Given the description of an element on the screen output the (x, y) to click on. 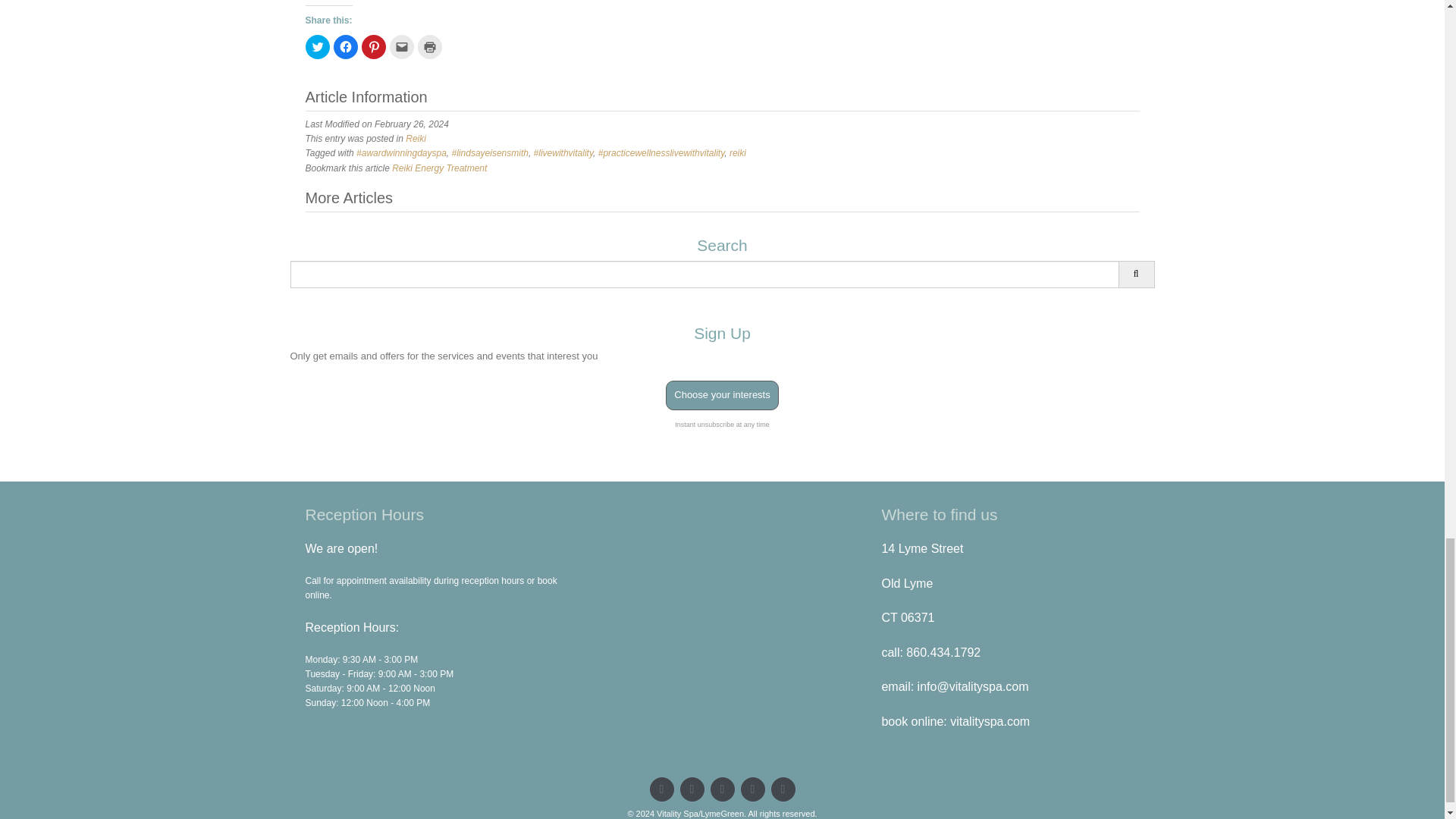
Click to email a link to a friend (401, 46)
Pinterest (721, 789)
Choose your interests (721, 395)
Flickr (751, 789)
Instagram (782, 789)
Click to share on Facebook (345, 46)
Click to share on Twitter (316, 46)
Reiki (416, 138)
Facebook (691, 789)
Search (1136, 274)
Twitter (660, 789)
Click to share on Pinterest (373, 46)
Click to print (428, 46)
reiki (737, 153)
Reiki Energy Treatment (438, 167)
